Given the description of an element on the screen output the (x, y) to click on. 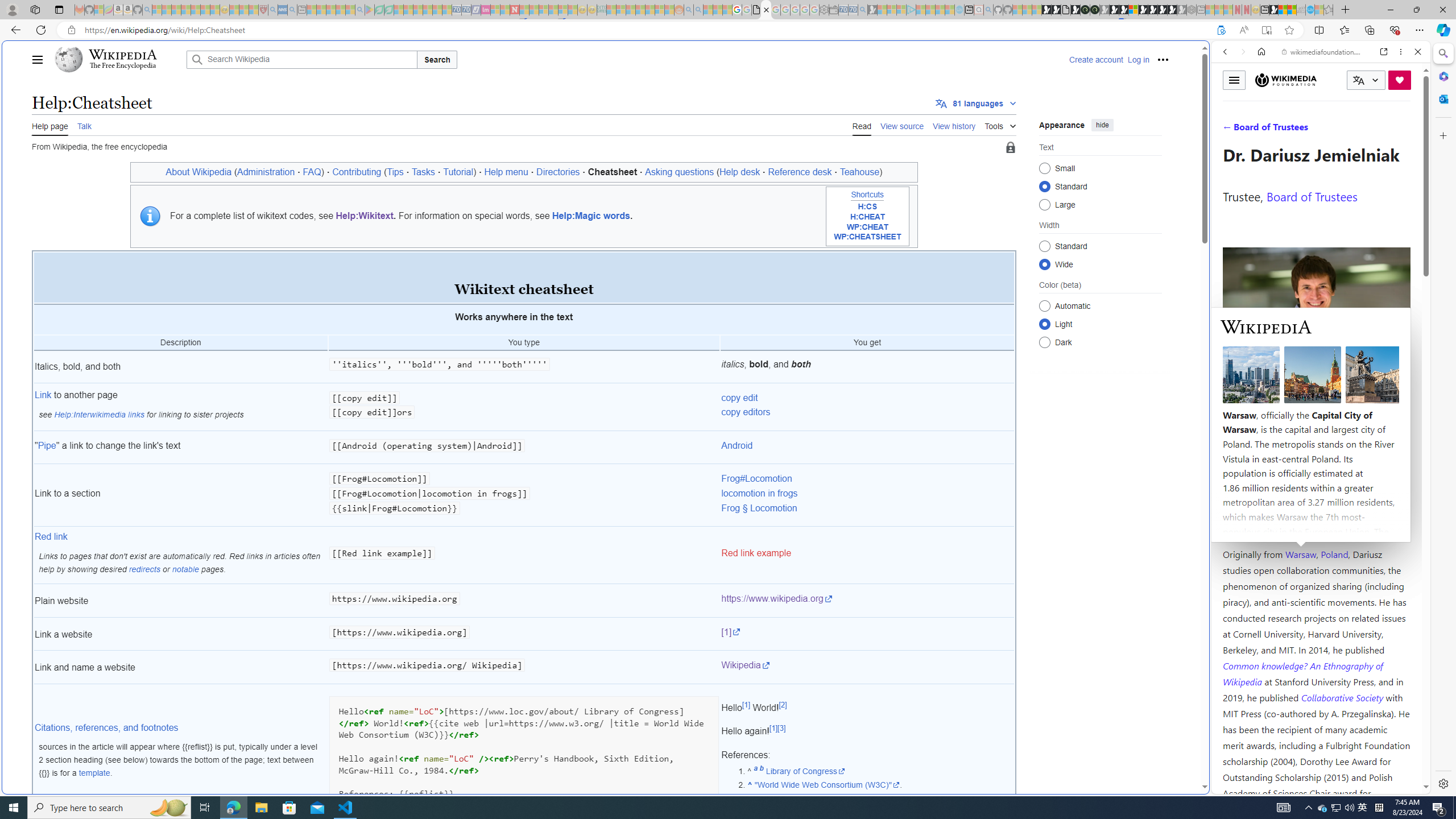
Teahouse (859, 172)
Terms of Use Agreement - Sleeping (378, 9)
Administration (266, 172)
Frequently visited (965, 151)
FAQ) (313, 172)
github - Search - Sleeping (988, 9)
Sign in to your account (1133, 9)
Bluey: Let's Play! - Apps on Google Play - Sleeping (369, 9)
WP:CHEATSHEET (867, 237)
Wiktionary (1315, 380)
